Given the description of an element on the screen output the (x, y) to click on. 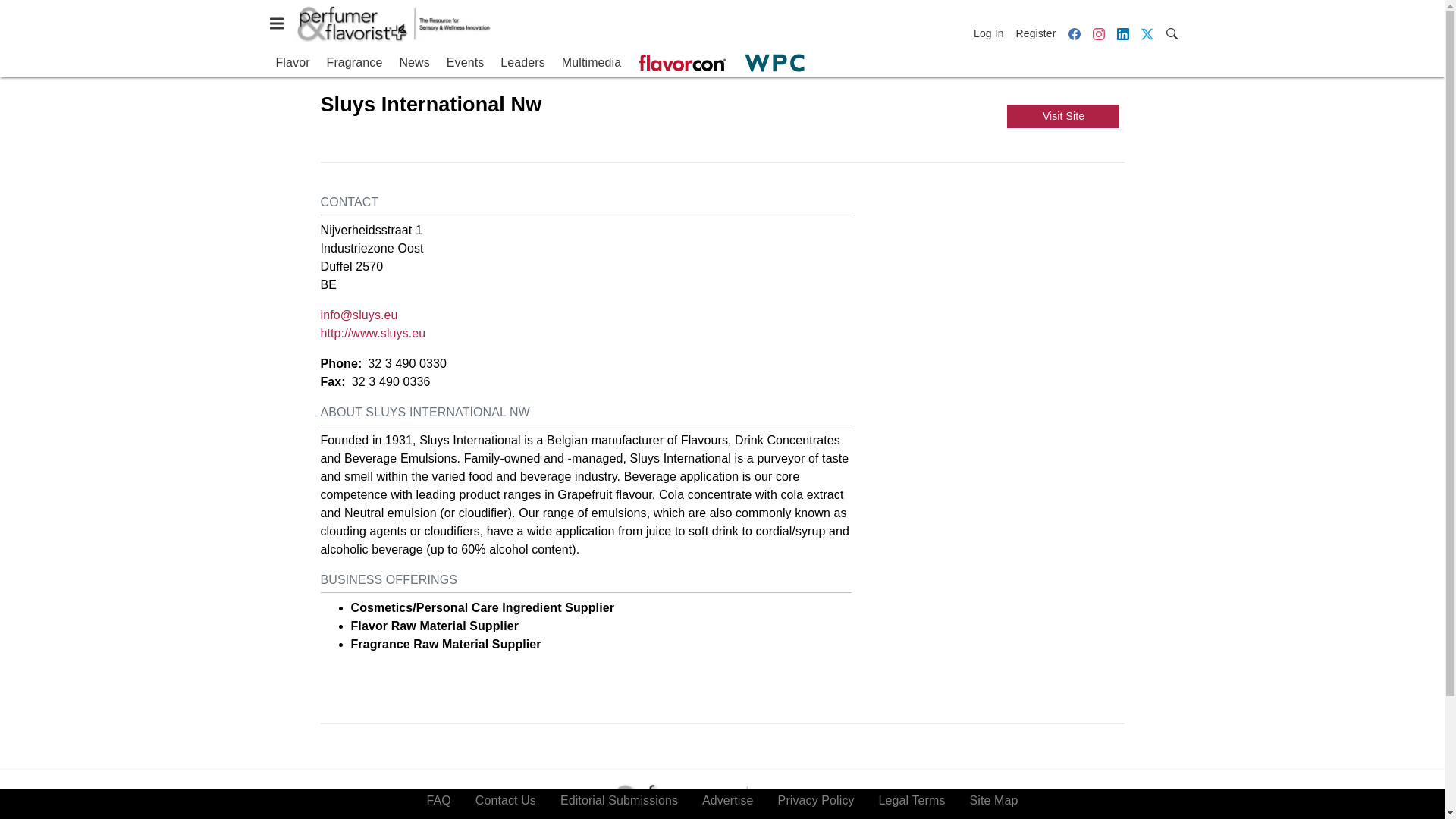
Search (1170, 32)
Instagram icon (1097, 33)
Fragrance (354, 62)
Flavorcon (681, 62)
LinkedIn icon (1122, 33)
News (413, 62)
Register (1036, 33)
Flavor (293, 62)
Multimedia (591, 62)
Visit Site (1063, 115)
